Given the description of an element on the screen output the (x, y) to click on. 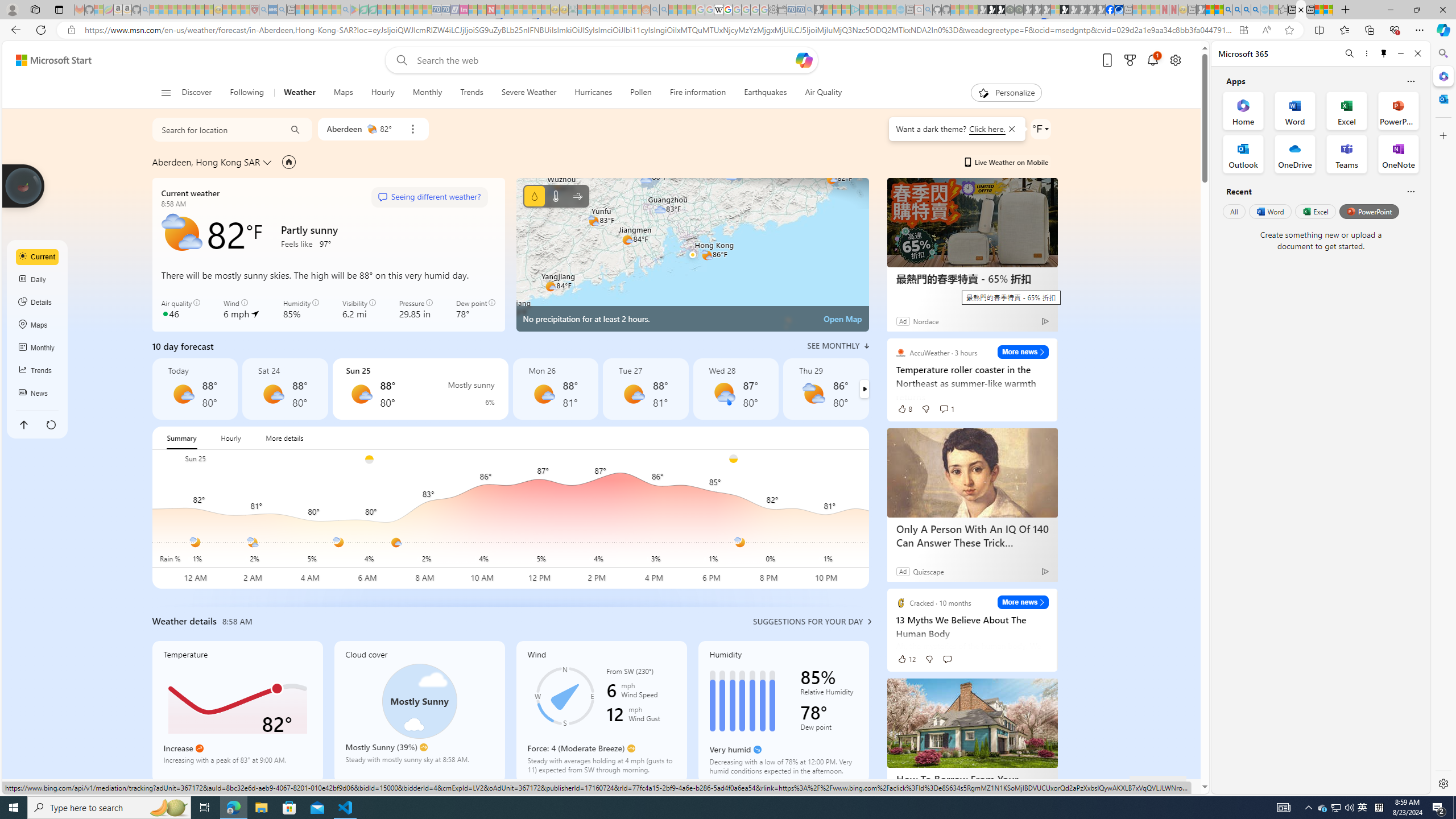
OneNote Office App (1398, 154)
Refresh this page (50, 424)
Terms of use (973, 786)
Air Quality (818, 92)
Outlook Office App (1243, 154)
Temperature (556, 195)
